Given the description of an element on the screen output the (x, y) to click on. 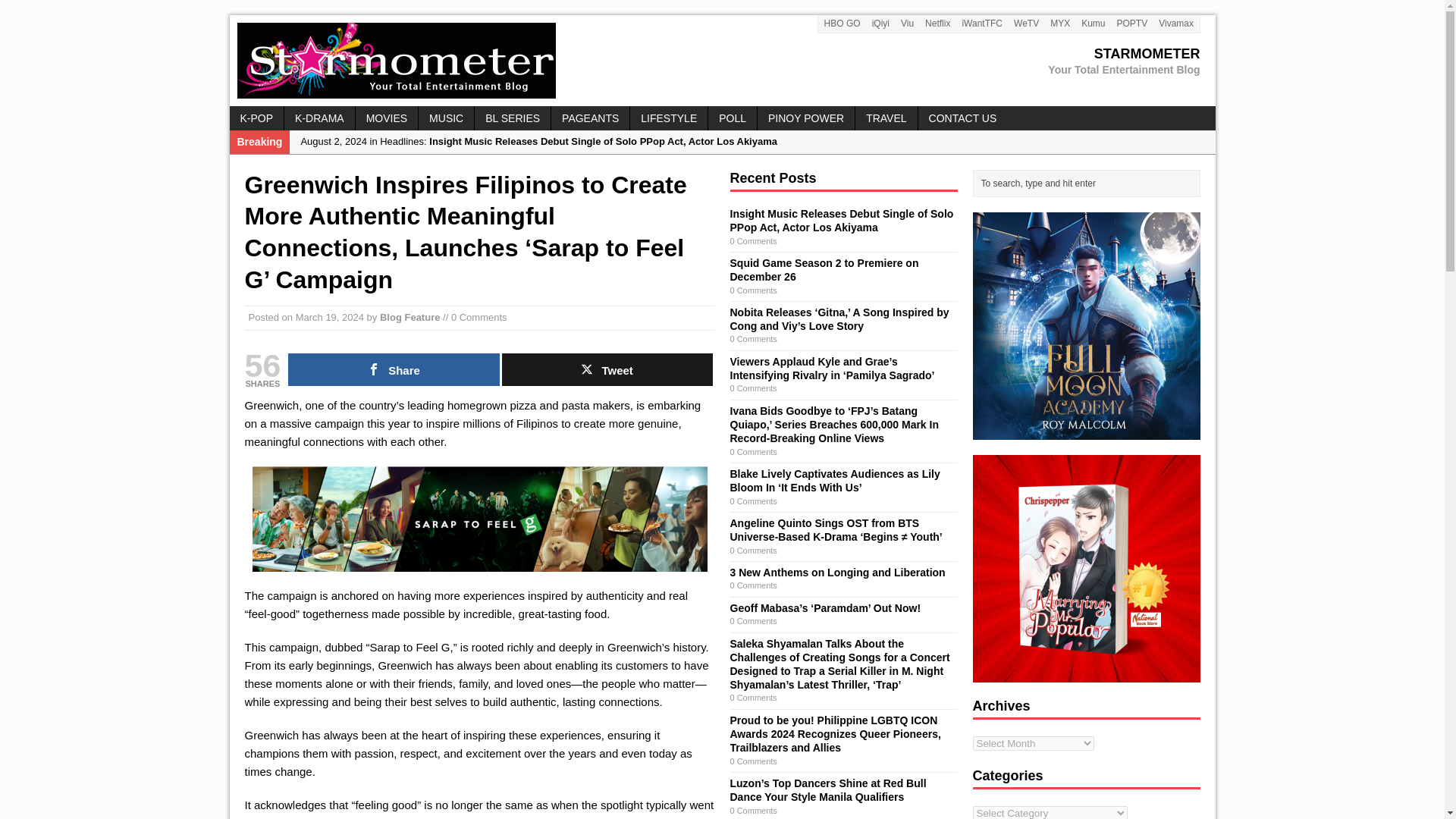
Viu (906, 23)
POPTV (1131, 23)
K-DRAMA (319, 118)
MUSIC (446, 118)
Tweet (607, 368)
MYX (721, 60)
TRAVEL (1060, 23)
iWantTFC (886, 118)
BL SERIES (982, 23)
Blog Feature (512, 118)
Share (409, 317)
MOVIES (393, 368)
PINOY POWER (386, 118)
